Given the description of an element on the screen output the (x, y) to click on. 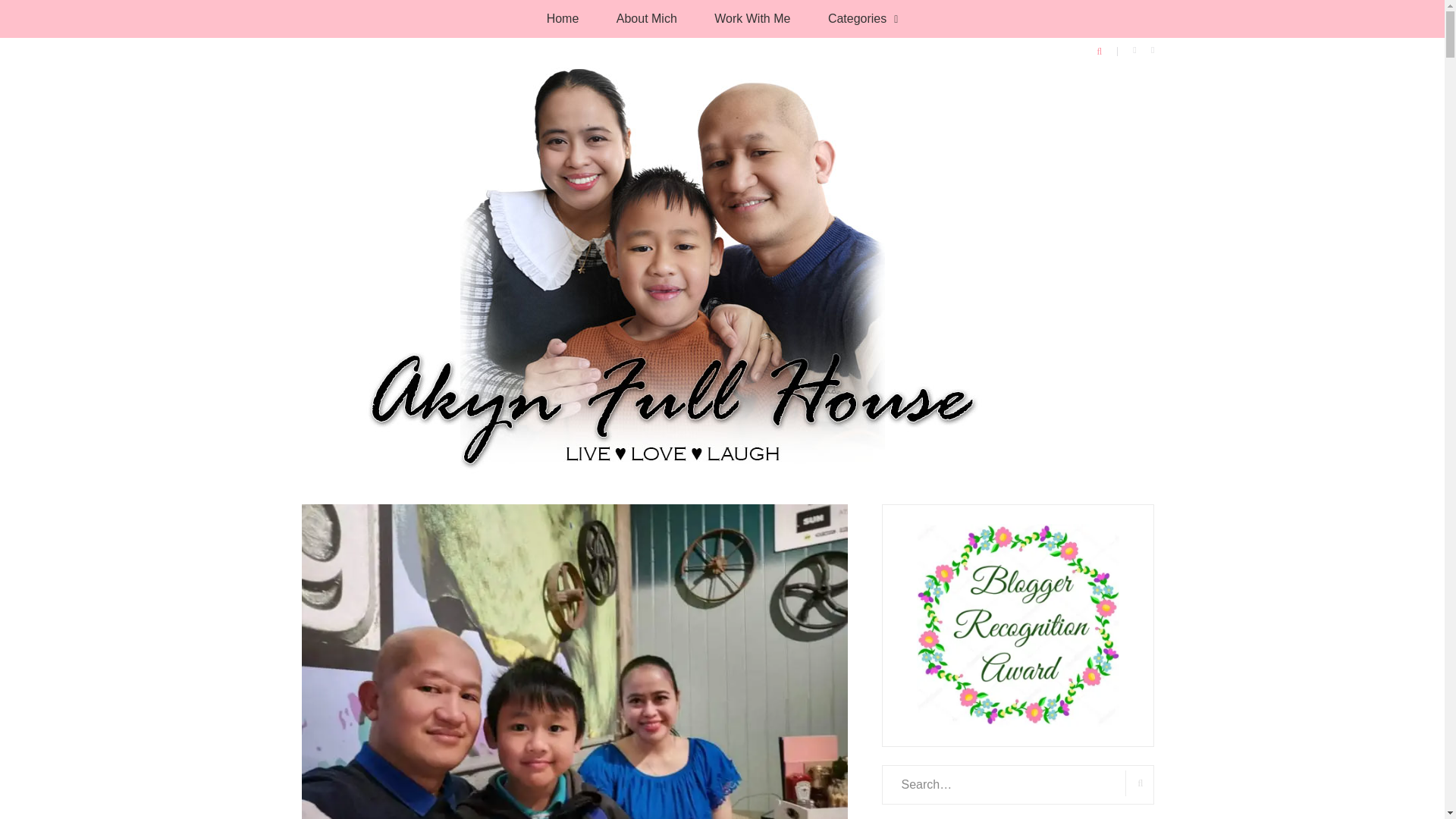
Work With Me (752, 18)
Categories (863, 18)
About Mich (646, 18)
